Given the description of an element on the screen output the (x, y) to click on. 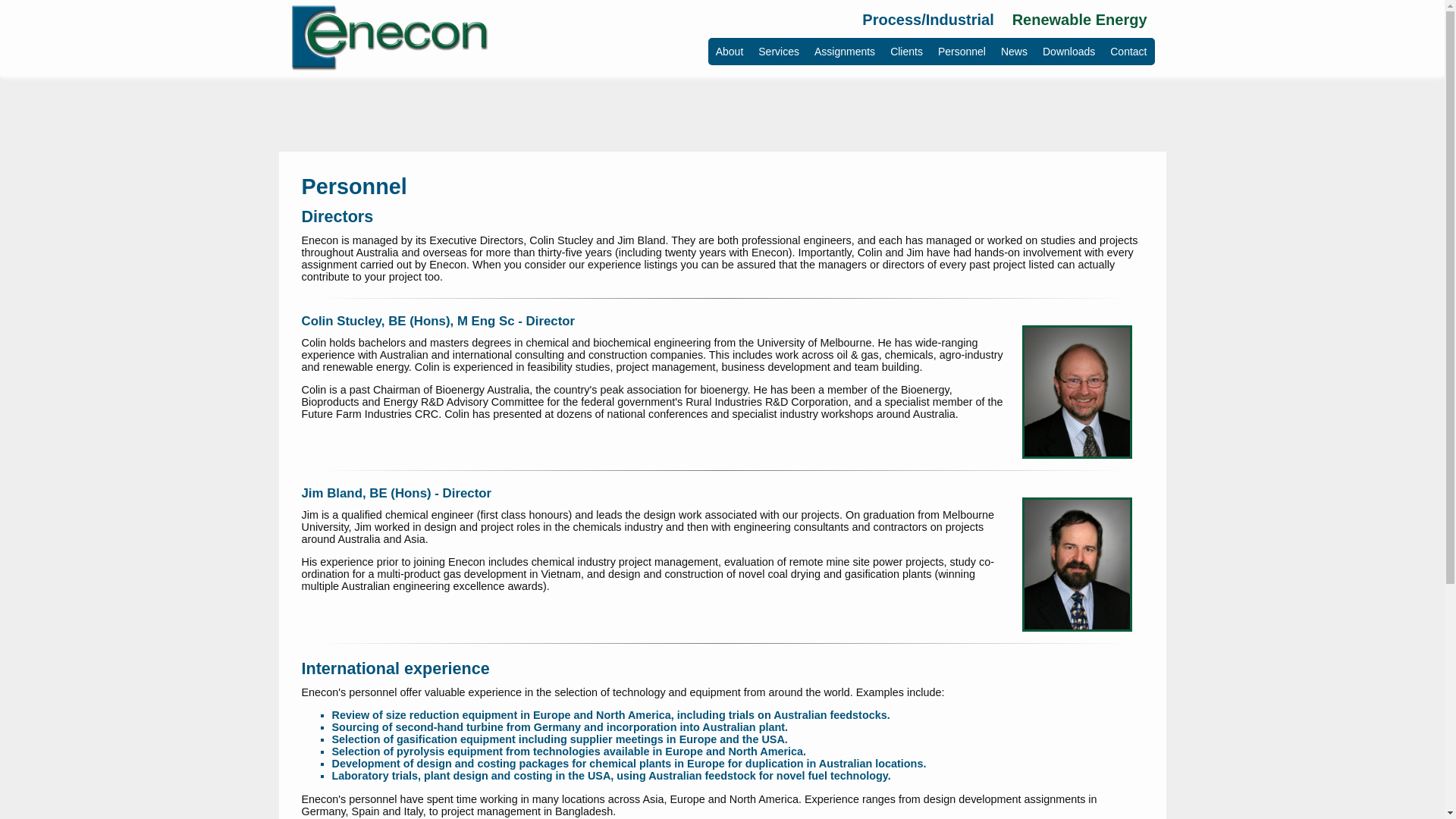
Renewable Energy Element type: text (1079, 20)
About Element type: text (729, 51)
Services Element type: text (778, 51)
Assignments Element type: text (844, 51)
Clients Element type: text (906, 51)
Personnel Element type: text (961, 51)
Process/Industrial Element type: text (927, 20)
News Element type: text (1014, 51)
Downloads Element type: text (1068, 51)
Contact Element type: text (1128, 51)
